Given the description of an element on the screen output the (x, y) to click on. 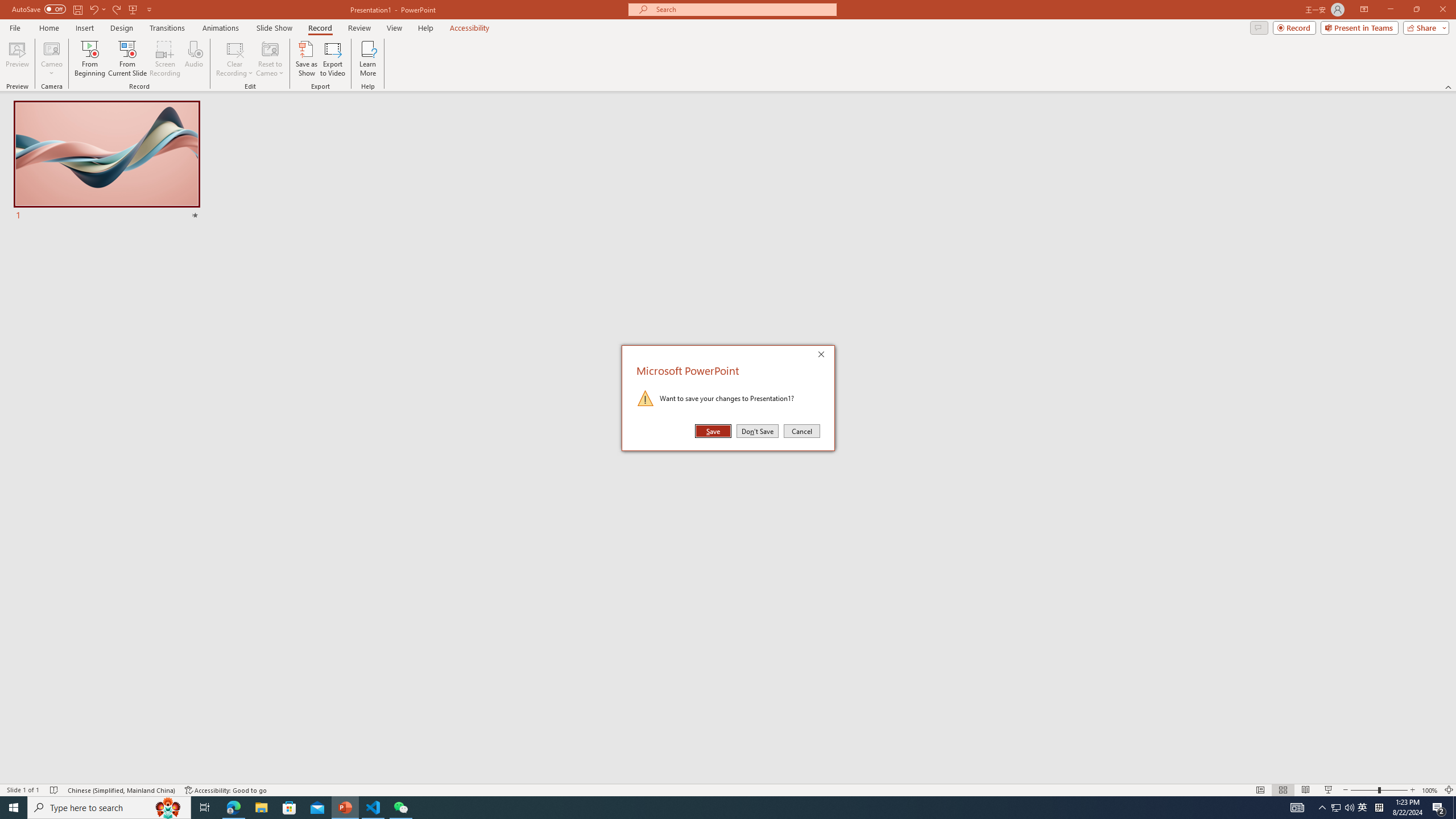
Zoom 100% (1430, 790)
Running applications (707, 807)
From Beginning... (89, 58)
